Given the description of an element on the screen output the (x, y) to click on. 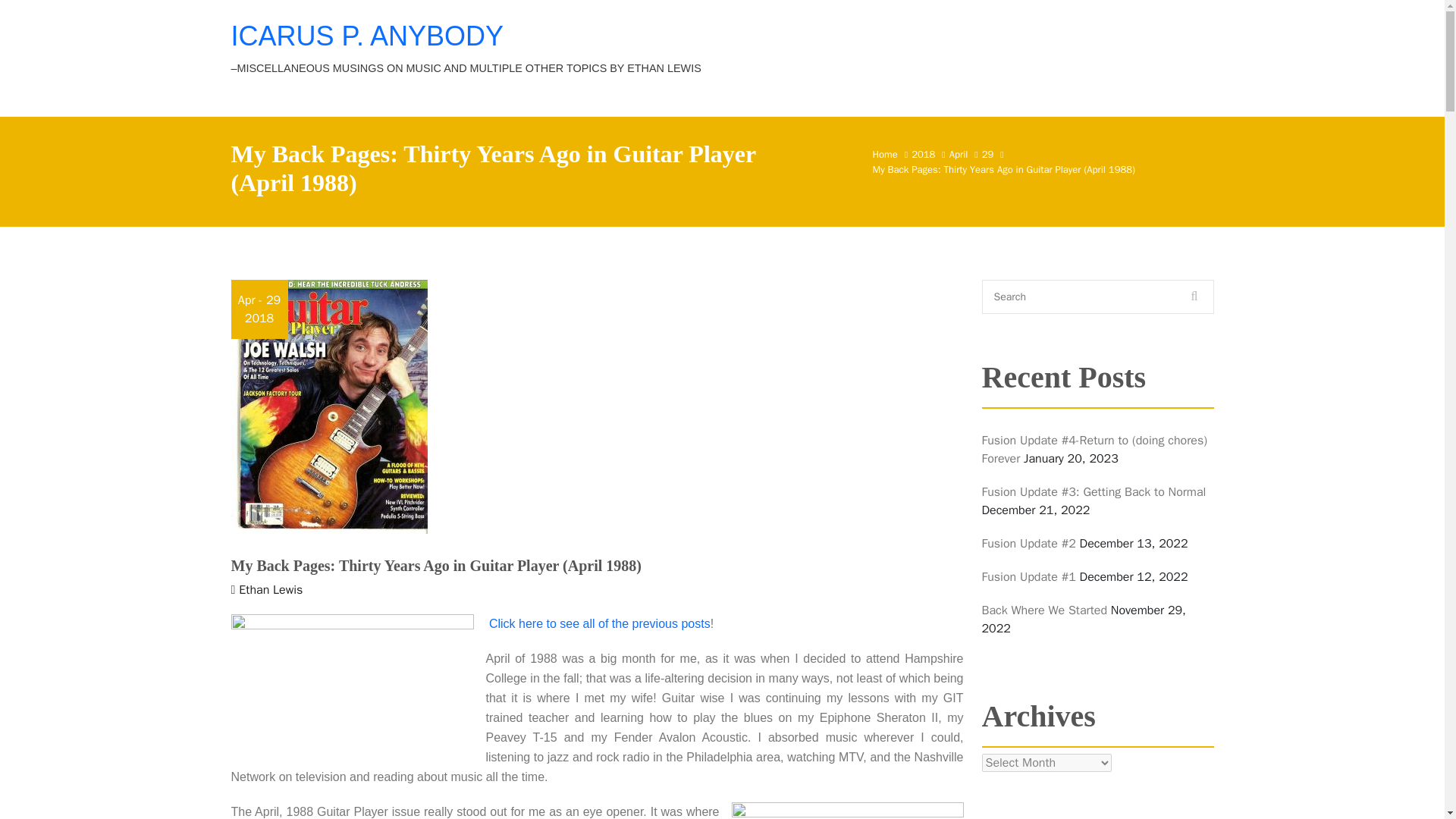
April (958, 154)
29 (987, 154)
Click here to see all of the previous posts (599, 623)
2018 (922, 154)
ICARUS P. ANYBODY (366, 35)
Ethan Lewis (270, 589)
Home (884, 154)
Back Where We Started (1043, 610)
